Given the description of an element on the screen output the (x, y) to click on. 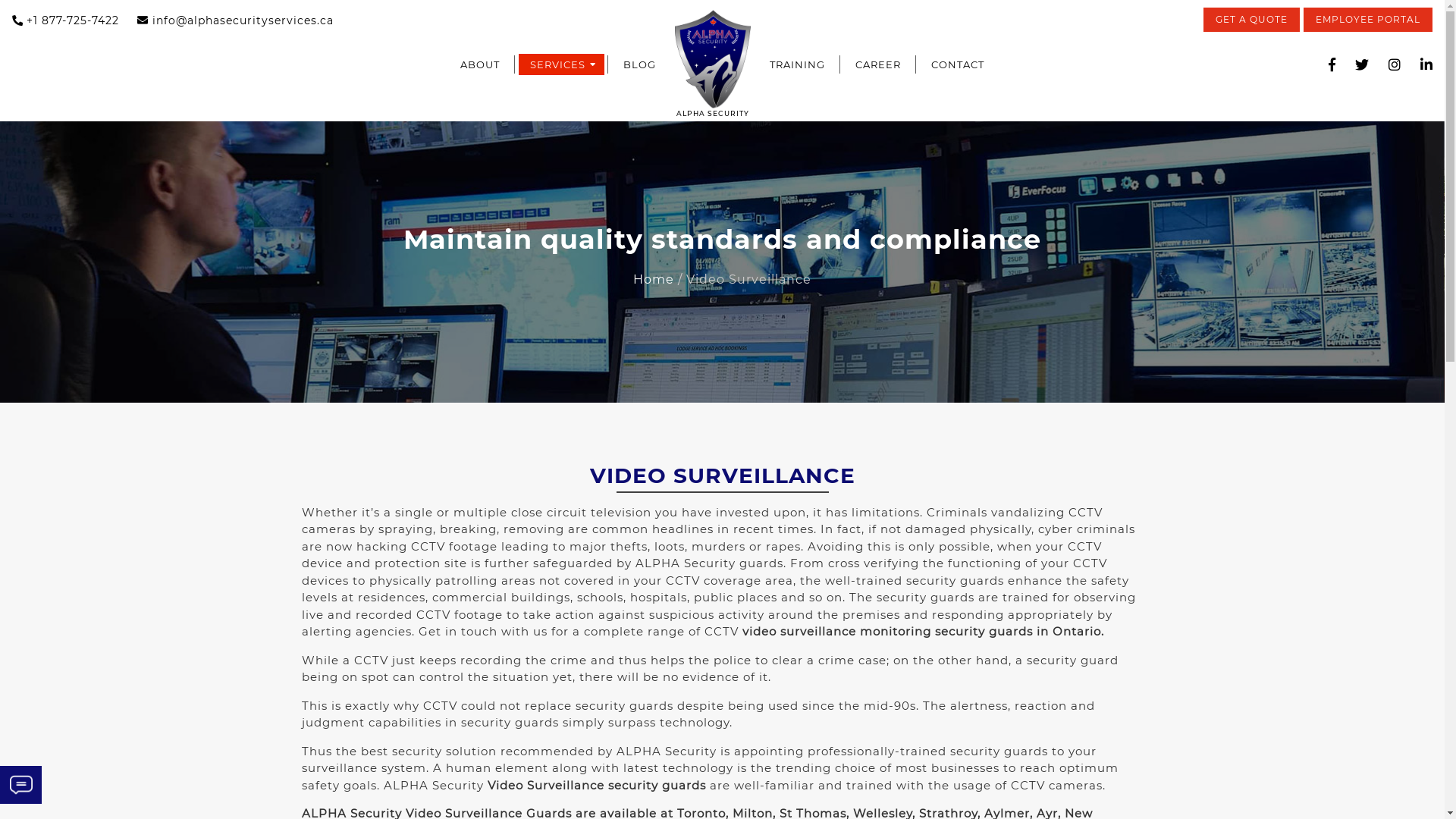
ALPHA SECURITY Element type: text (712, 64)
EMPLOYEE PORTAL Element type: text (1367, 19)
CONTACT Element type: text (957, 64)
info@alphasecurityservices.ca Element type: text (235, 20)
BLOG Element type: text (639, 64)
CAREER Element type: text (878, 64)
Home Element type: text (653, 279)
TRAINING Element type: text (797, 64)
GET A QUOTE Element type: text (1251, 19)
ABOUT Element type: text (479, 64)
SERVICES Element type: text (561, 64)
+1 877-725-7422 Element type: text (65, 20)
